Given the description of an element on the screen output the (x, y) to click on. 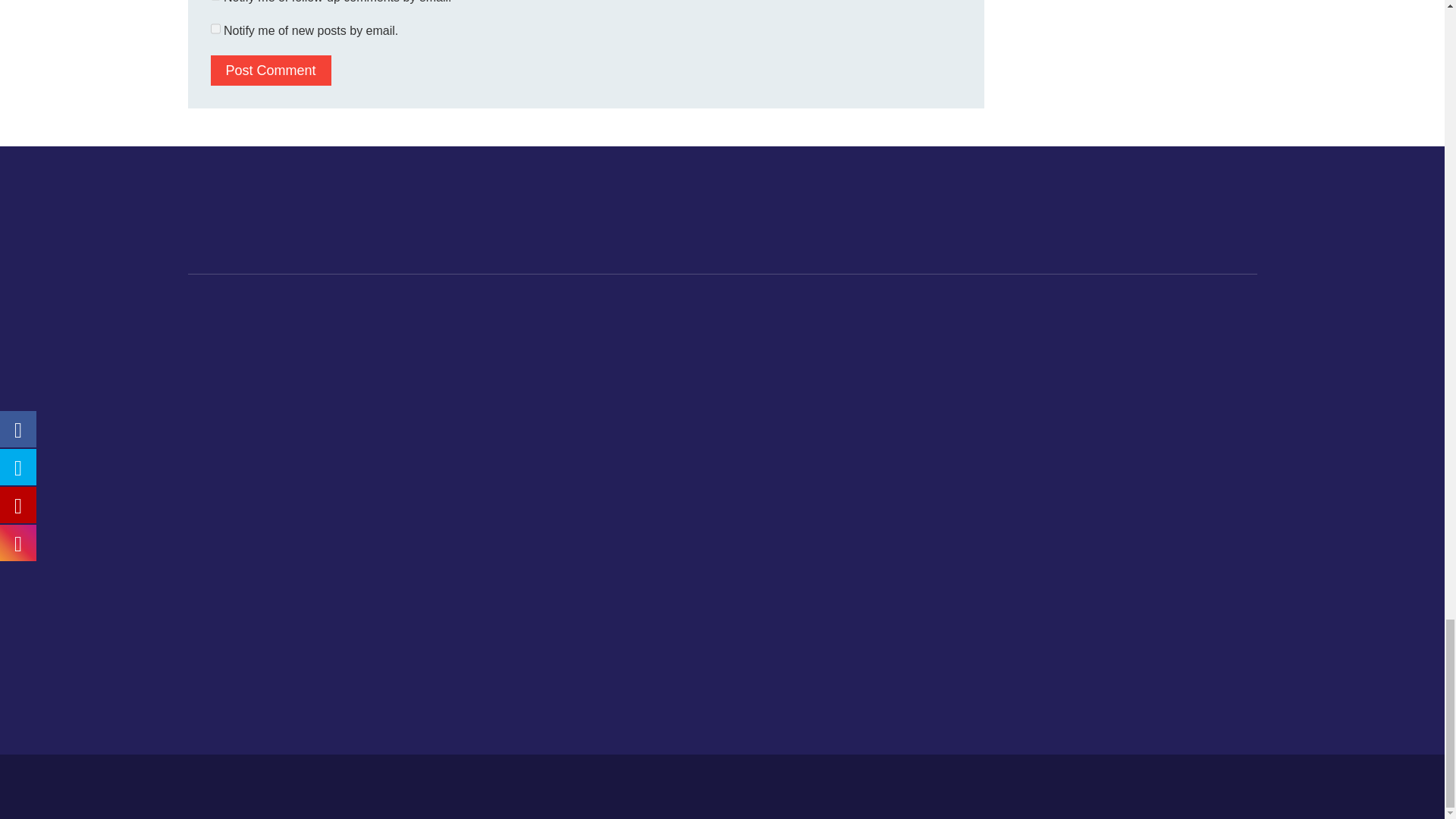
Post Comment (271, 70)
